Given the description of an element on the screen output the (x, y) to click on. 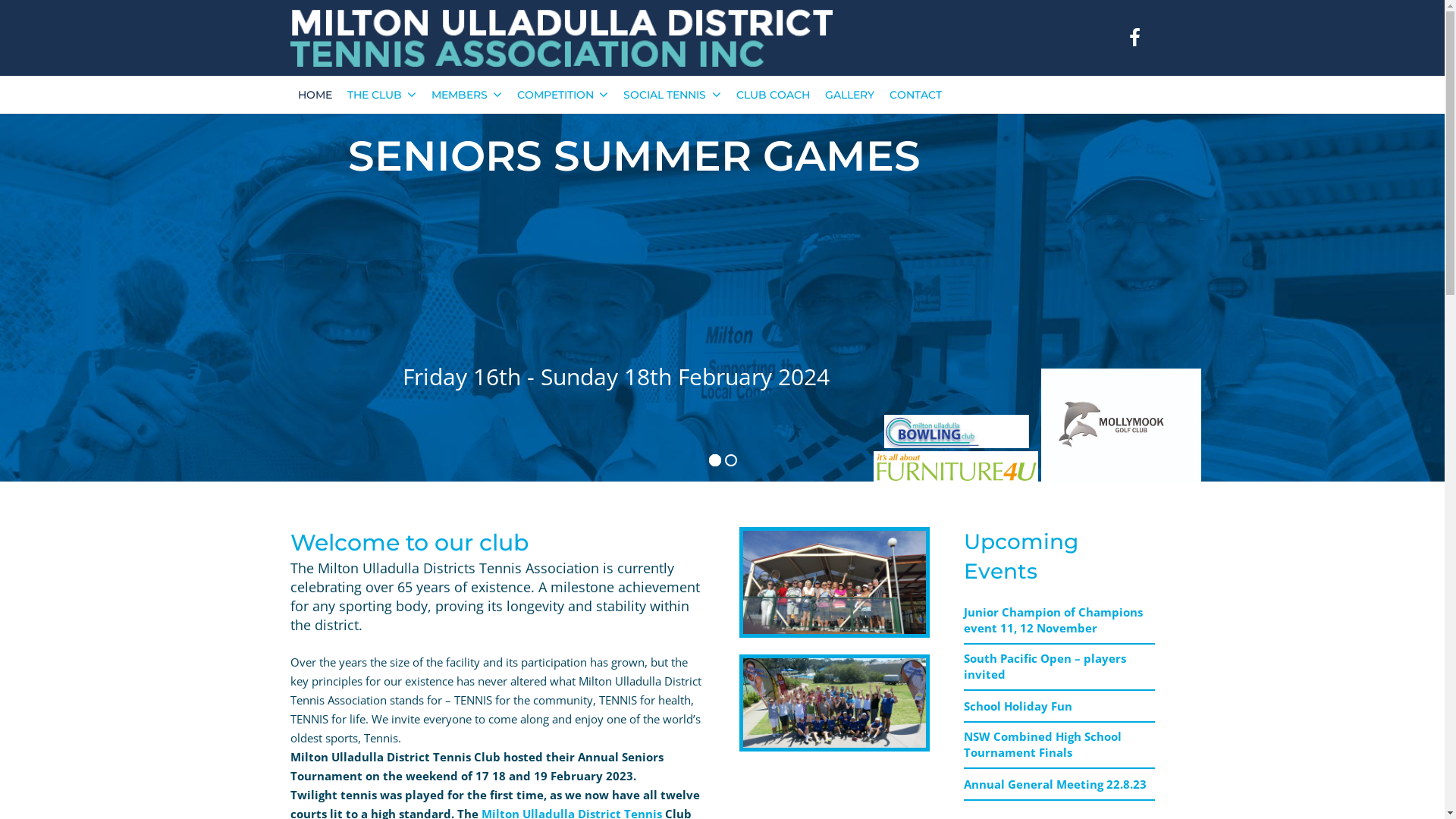
CONTACT Element type: text (915, 94)
Junior Champion of Champions event 11, 12 November Element type: text (1052, 619)
GALLERY Element type: text (849, 94)
CLUB COACH Element type: text (772, 94)
HOME Element type: text (313, 94)
NSW Combined High School Tournament Finals Element type: text (1042, 743)
THE CLUB Element type: text (381, 94)
MEMBERS Element type: text (466, 94)
Annual General Meeting 22.8.23 Element type: text (1054, 783)
School Holiday Fun Element type: text (1017, 705)
SOCIAL TENNIS Element type: text (671, 94)
COMPETITION Element type: text (562, 94)
